Given the description of an element on the screen output the (x, y) to click on. 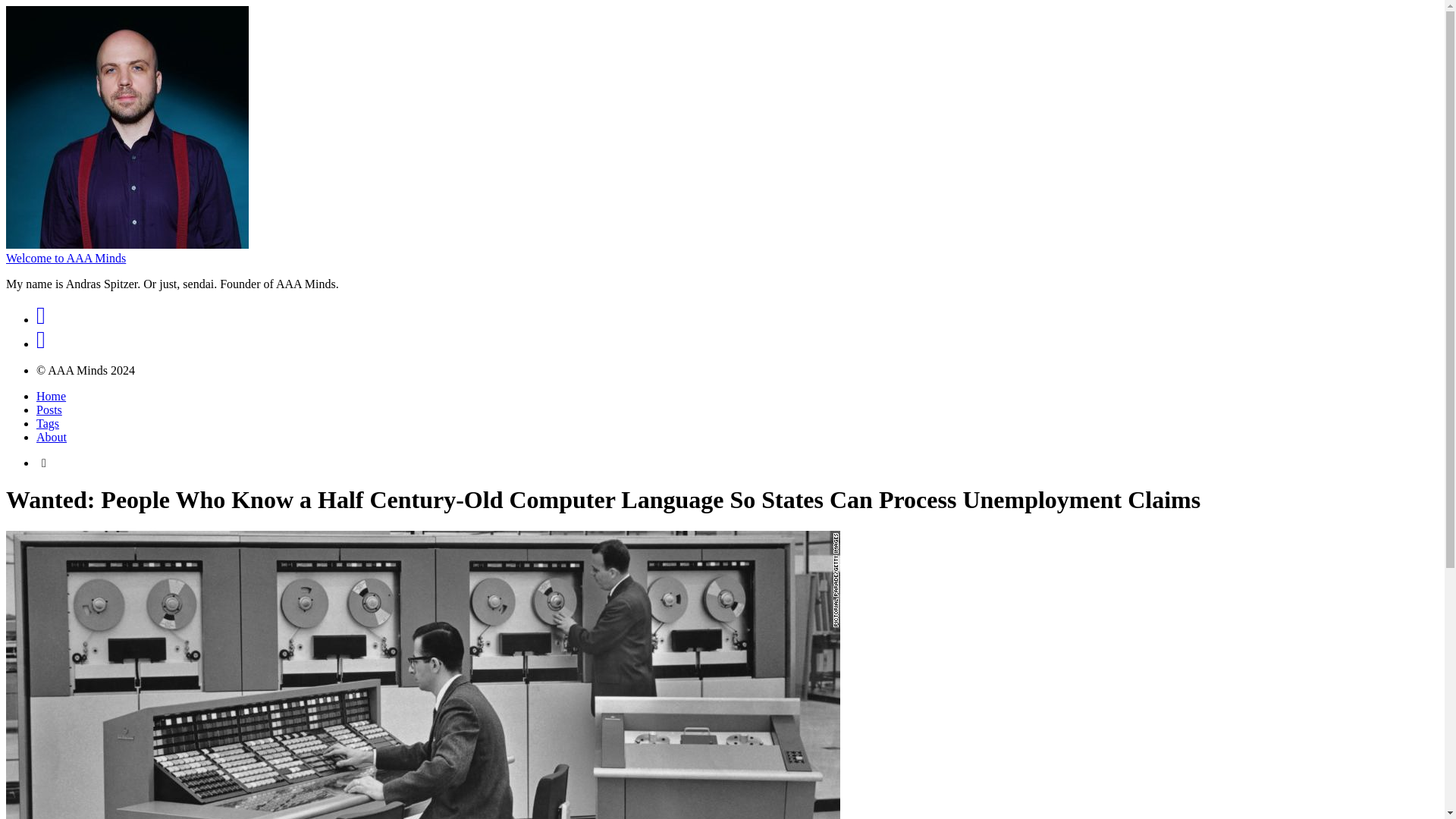
Switch Theme (43, 462)
Posts (49, 409)
Home (50, 395)
About (51, 436)
Welcome to AAA Minds (65, 257)
Tags (47, 422)
